Given the description of an element on the screen output the (x, y) to click on. 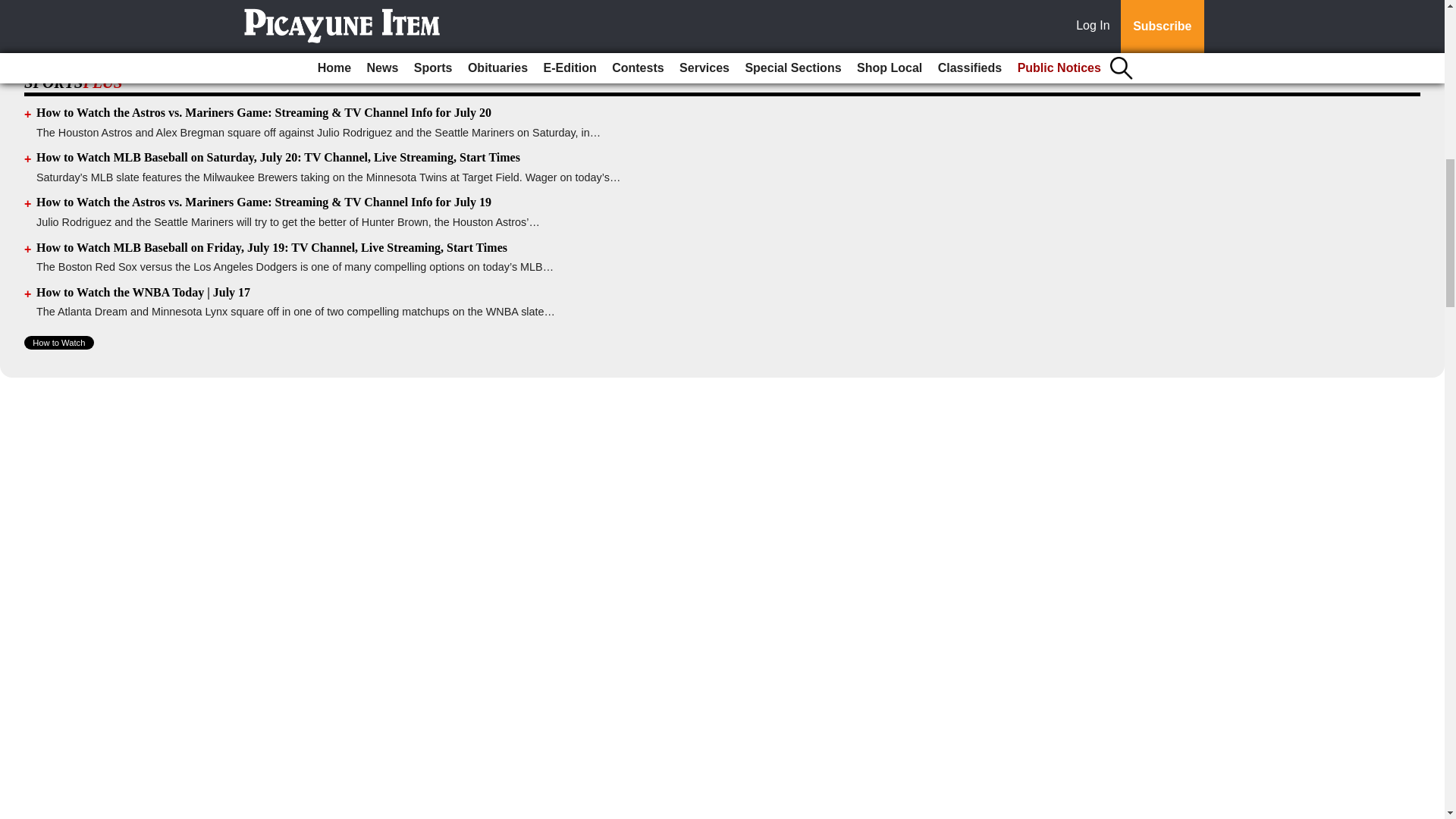
How to Watch (59, 342)
